Given the description of an element on the screen output the (x, y) to click on. 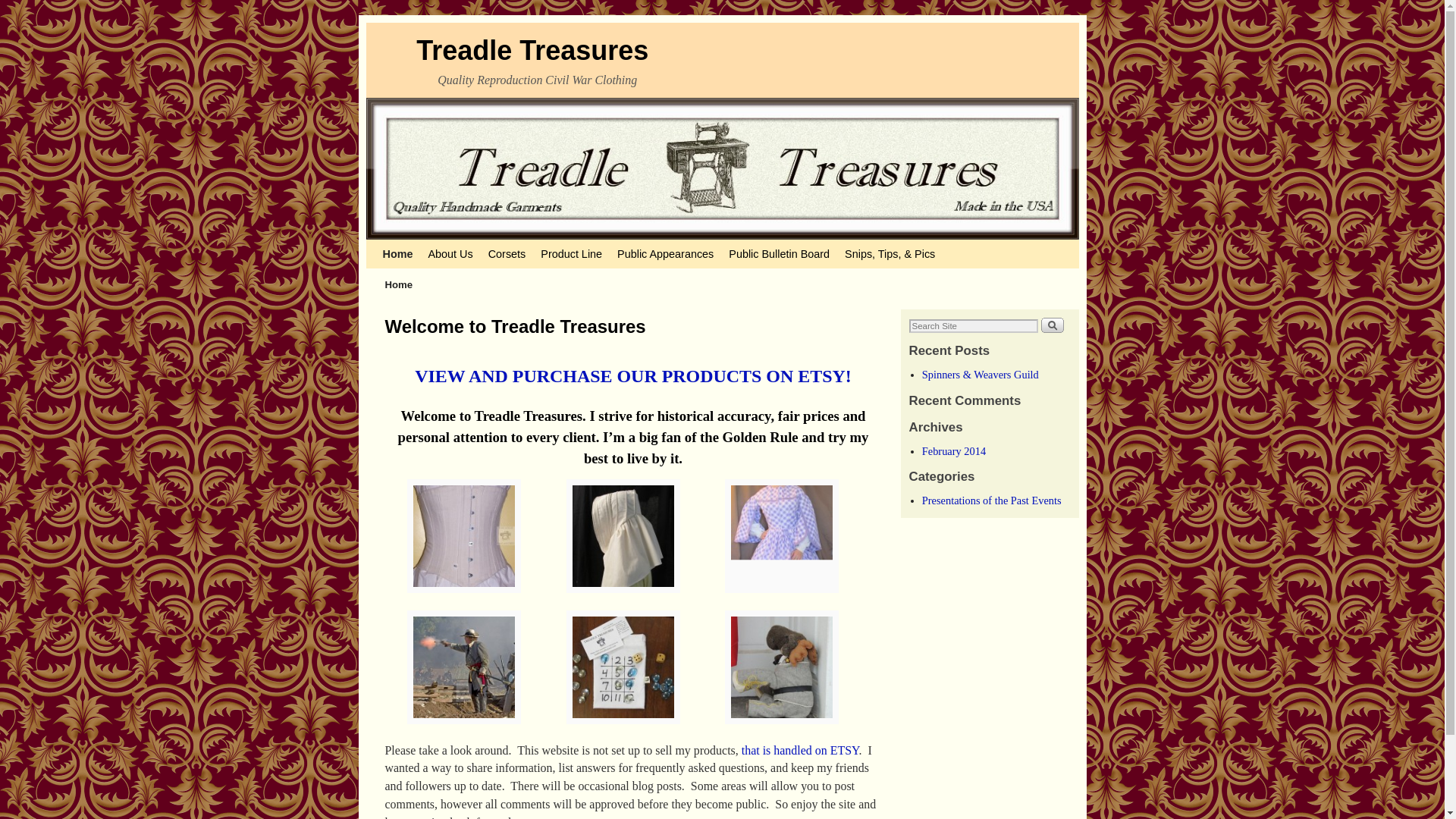
Public Bulletin Board (778, 253)
Presentations of the Past Events (991, 500)
Purple Dress (781, 600)
About Us (450, 253)
Corsets (507, 253)
My ETSY Shop - Treadle Treasures (632, 375)
that is handled on ETSY (800, 748)
Home (397, 253)
Well Dress Re-Enactor Outfitted by Treadle Treasures (464, 731)
Product Line (571, 253)
